Given the description of an element on the screen output the (x, y) to click on. 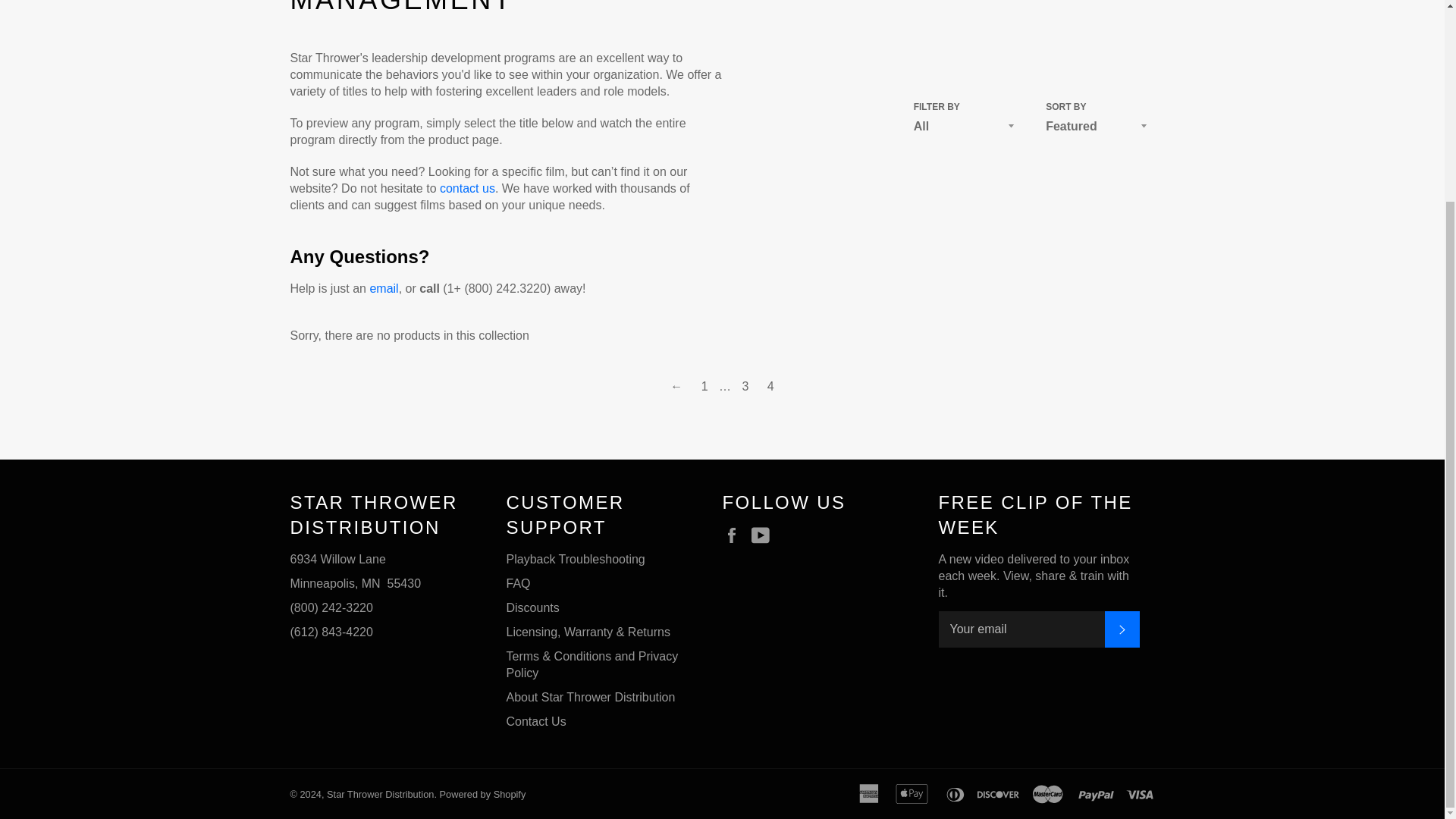
Playback Troubleshooting (575, 558)
Star Thrower Distribution on Facebook (735, 535)
Star Thrower Distribution on YouTube (764, 535)
1 (705, 386)
3 (744, 386)
email (383, 287)
Contact Star Thrower Distribution (467, 187)
4 (770, 386)
contact us (467, 187)
